Given the description of an element on the screen output the (x, y) to click on. 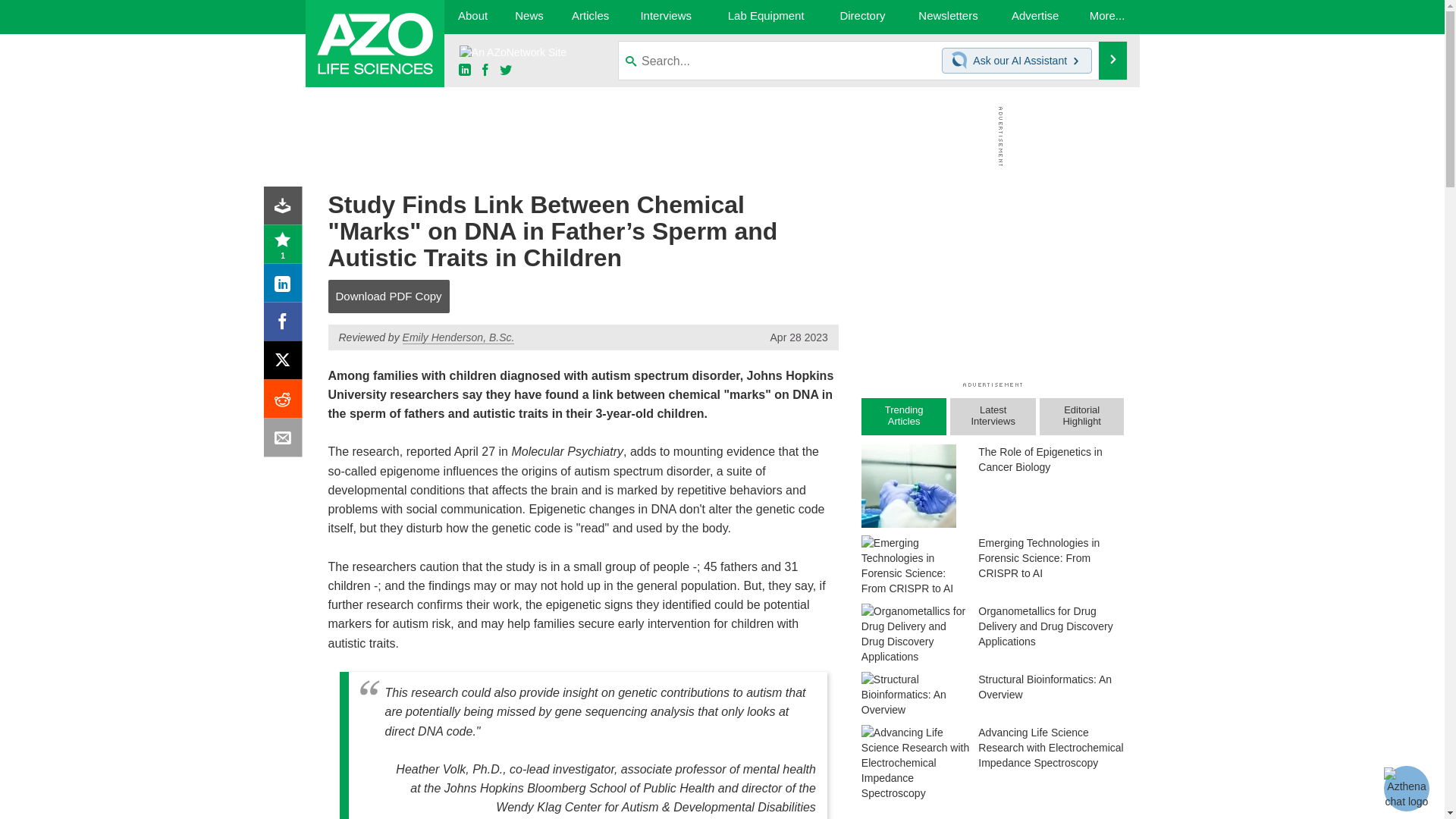
Directory (862, 17)
Advertise (1035, 17)
Newsletters (948, 17)
Articles (590, 17)
Email (285, 441)
Interviews (665, 17)
About (472, 17)
Rating (285, 247)
X (285, 363)
